Given the description of an element on the screen output the (x, y) to click on. 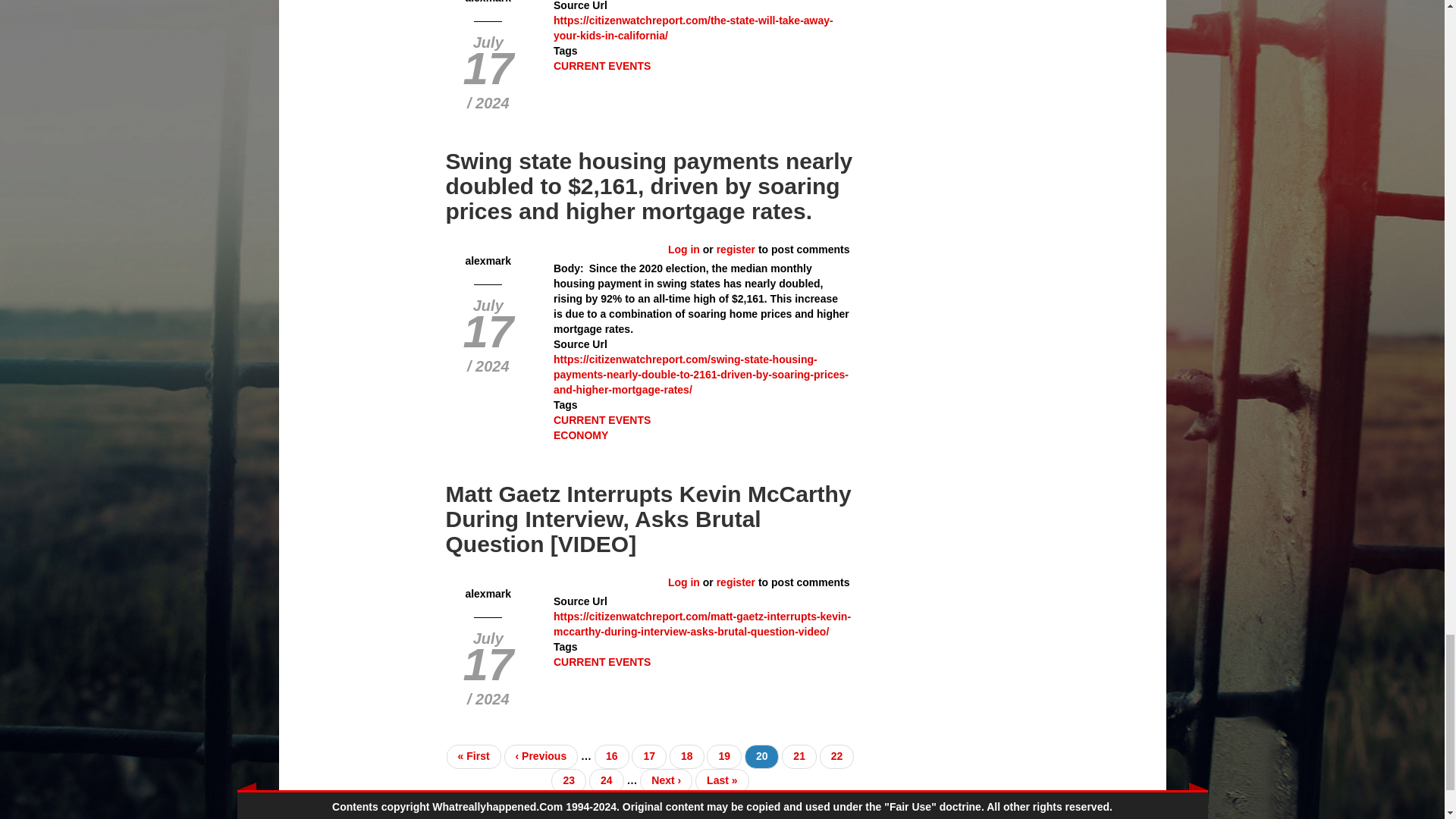
Go to page 24 (606, 781)
Go to last page (721, 781)
Go to next page (666, 781)
Go to previous page (540, 756)
Go to page 22 (836, 756)
Go to page 18 (686, 756)
Go to page 17 (648, 756)
Go to page 23 (568, 781)
Current page (761, 756)
Go to first page (473, 756)
Go to page 21 (798, 756)
Go to page 19 (723, 756)
Go to page 16 (611, 756)
